Given the description of an element on the screen output the (x, y) to click on. 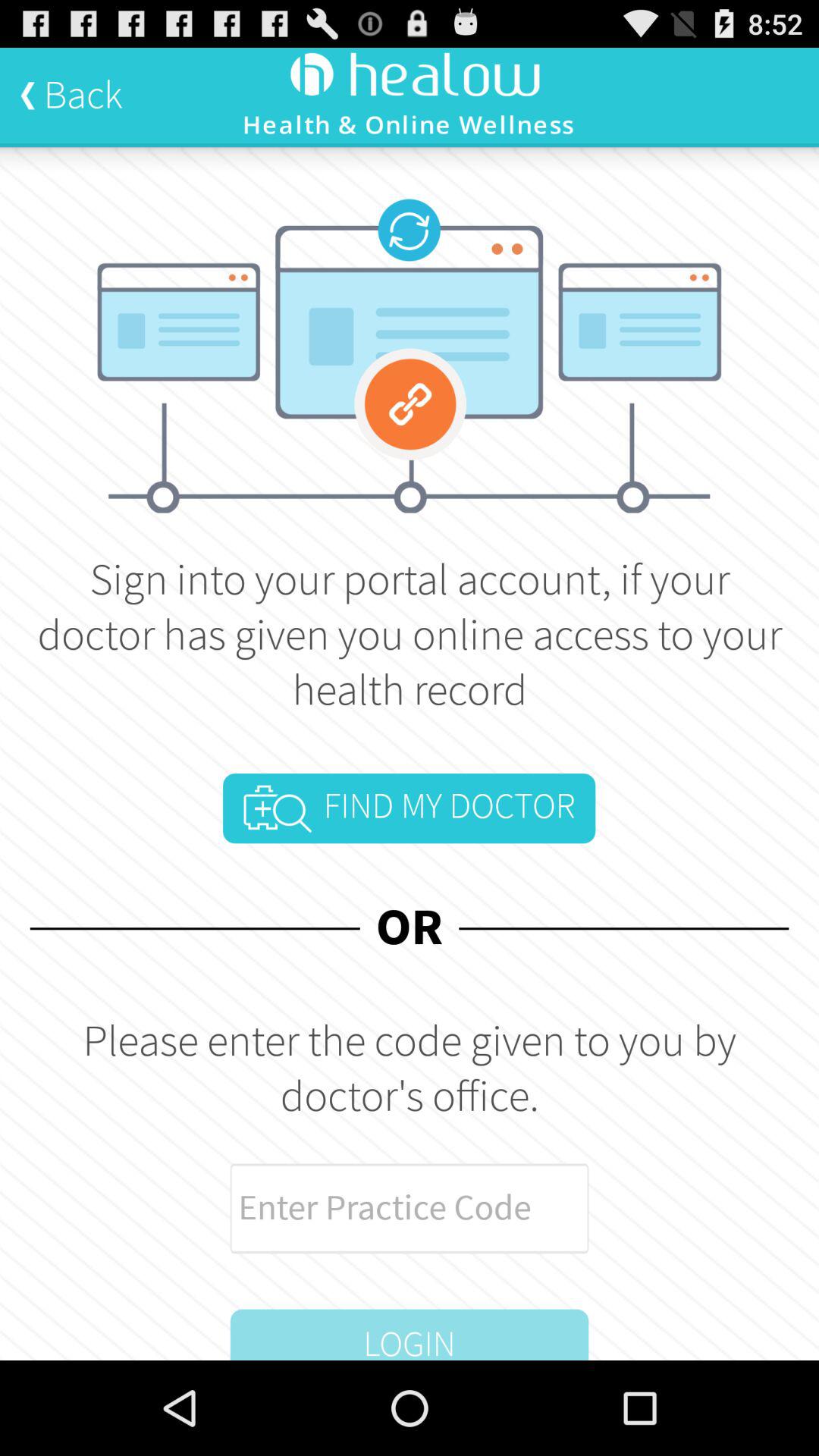
open back at the top left corner (70, 95)
